Given the description of an element on the screen output the (x, y) to click on. 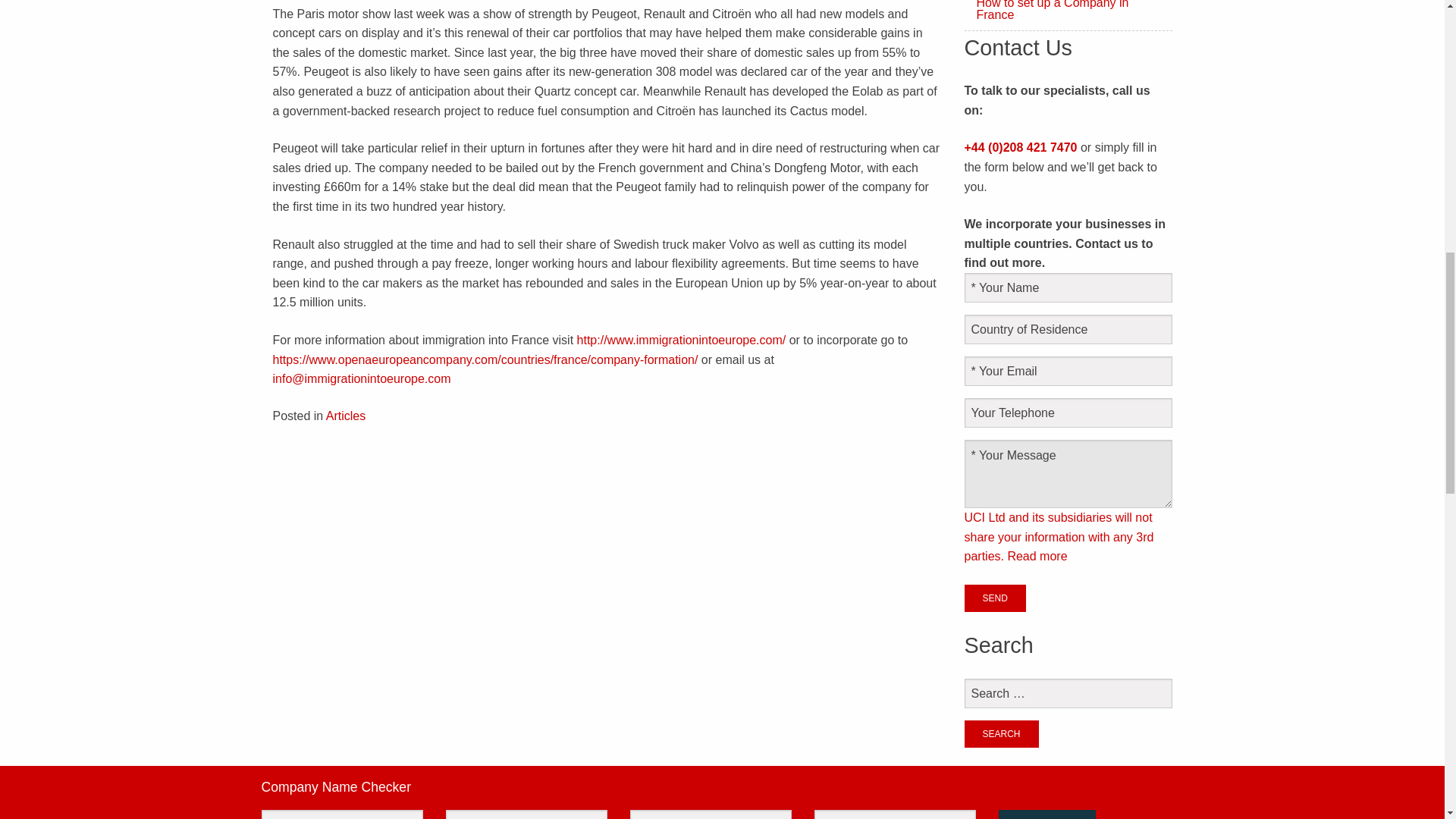
Check name (1047, 814)
Send (994, 597)
Search (1001, 733)
Search (1001, 733)
